Given the description of an element on the screen output the (x, y) to click on. 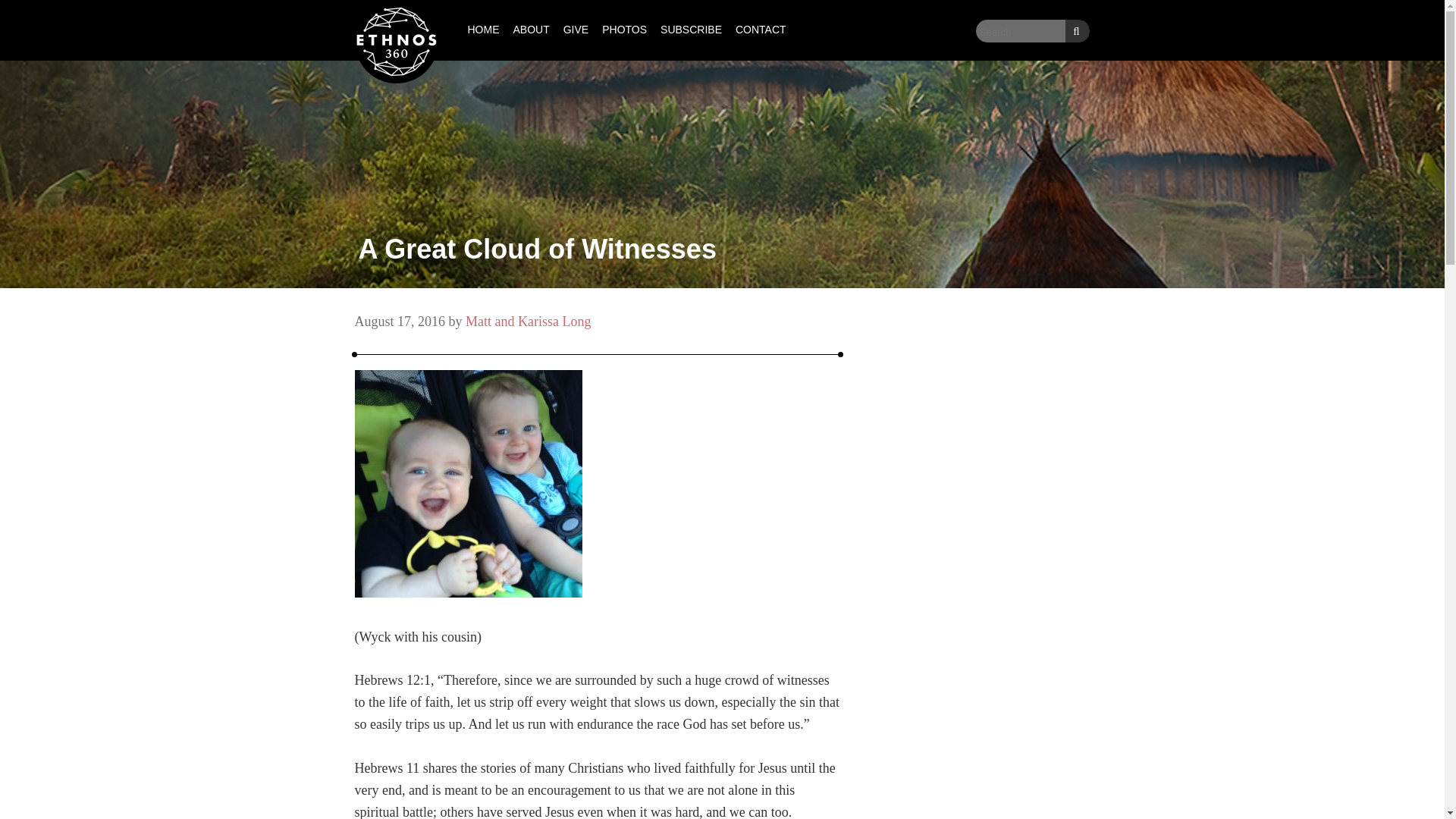
GIVE (575, 30)
SUBSCRIBE (691, 30)
PHOTOS (624, 30)
Matt and Karissa Long (528, 321)
HOME (483, 30)
CONTACT (761, 30)
ABOUT (531, 30)
